Given the description of an element on the screen output the (x, y) to click on. 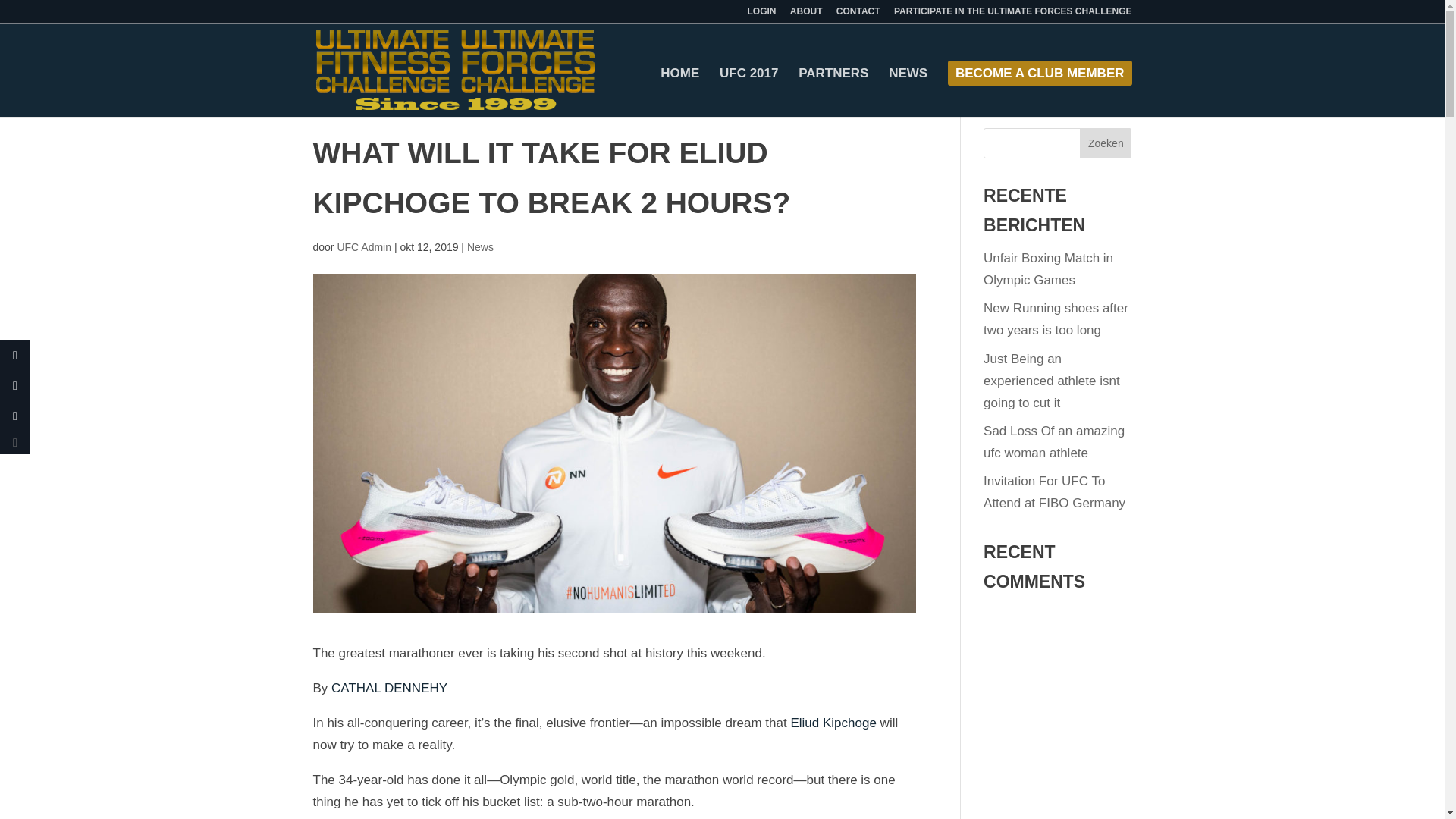
LOGIN (761, 14)
UFC Admin (363, 246)
News (480, 246)
PARTICIPATE IN THE ULTIMATE FORCES CHALLENGE (1012, 14)
CATHAL DENNEHY (388, 687)
Eliud Kipchoge (833, 722)
ABOUT (806, 14)
CONTACT (857, 14)
UFC 2017 (748, 92)
BECOME A CLUB MEMBER (1039, 92)
